Given the description of an element on the screen output the (x, y) to click on. 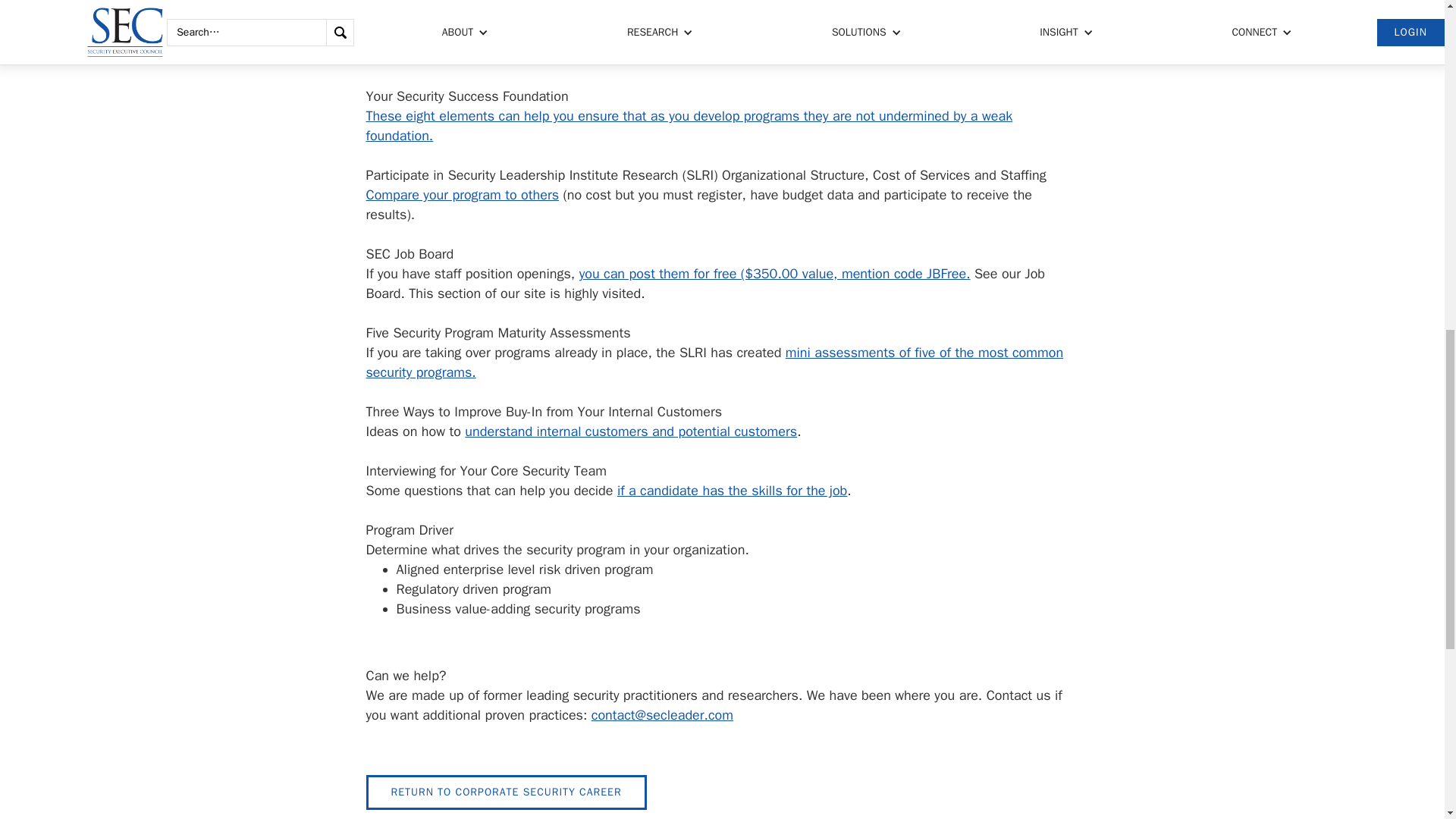
Compare your program to others (462, 194)
understand internal customers and potential customers (630, 431)
potential mitigation services (888, 36)
if a candidate has the skills for the job (732, 490)
